Given the description of an element on the screen output the (x, y) to click on. 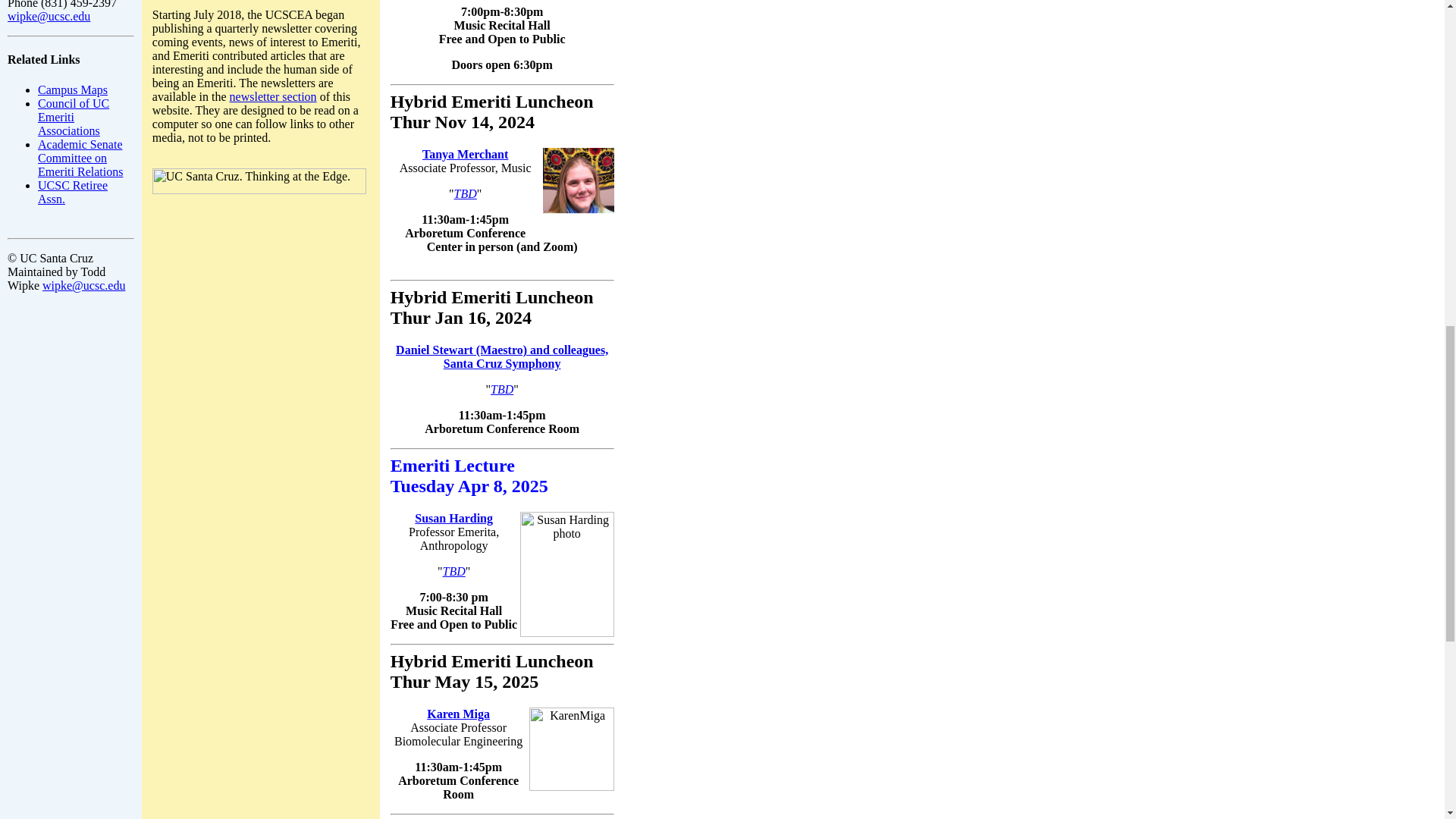
Academic Senate Committee on Emeriti Relations (79, 158)
Council of UC Emeriti Associations (73, 117)
newsletter section (273, 96)
Campus Maps (72, 89)
UC Santa Cruz. Thinking at the Edge. (259, 181)
UCSC Retiree Assn. (72, 192)
UCSC Retiree Assn. (72, 192)
Newsletters (273, 96)
